Given the description of an element on the screen output the (x, y) to click on. 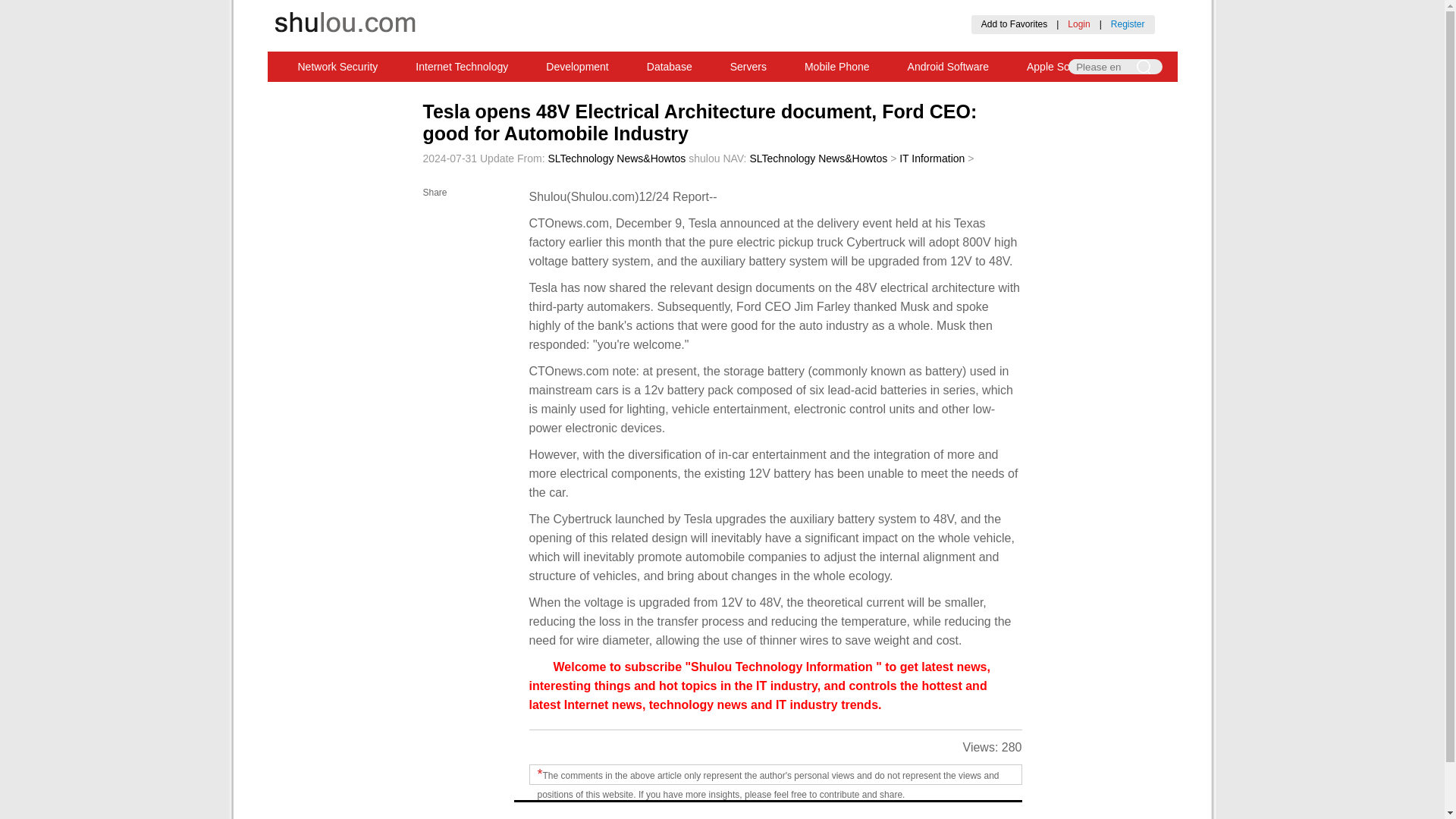
Contact us (750, 9)
Android Software (947, 66)
Mobile Phone (837, 66)
Apple Software (1062, 66)
Database (669, 66)
Network Security (338, 66)
About us (678, 9)
Internet Technology (461, 66)
Internet Technology (461, 66)
Login (1078, 23)
Database (669, 66)
Register (1127, 23)
Development (577, 66)
Add to Favorites (1013, 23)
Development (577, 66)
